Given the description of an element on the screen output the (x, y) to click on. 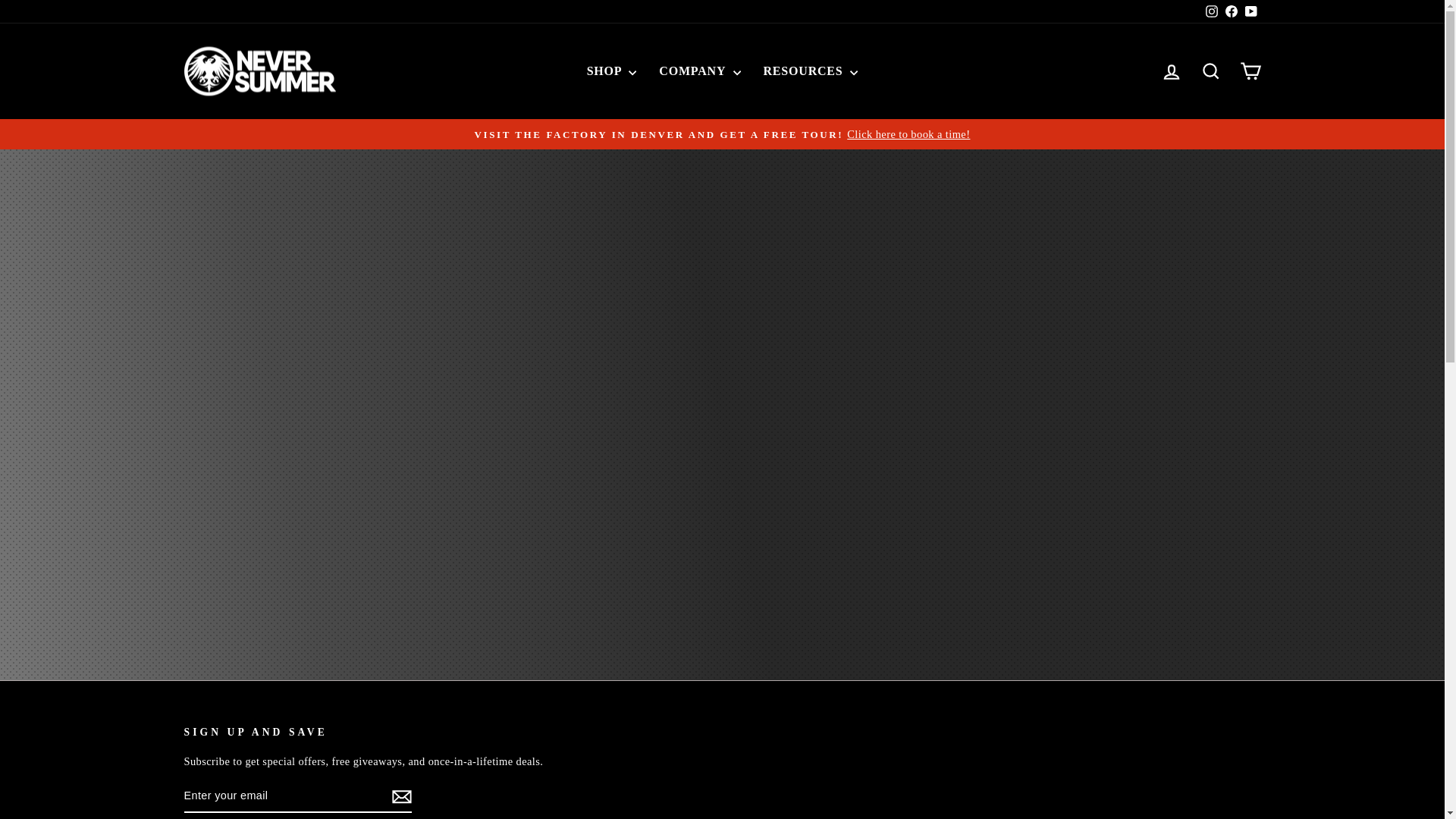
icon-email (400, 796)
ICON-SEARCH (1210, 70)
ACCOUNT (1170, 71)
instagram (1211, 10)
